Given the description of an element on the screen output the (x, y) to click on. 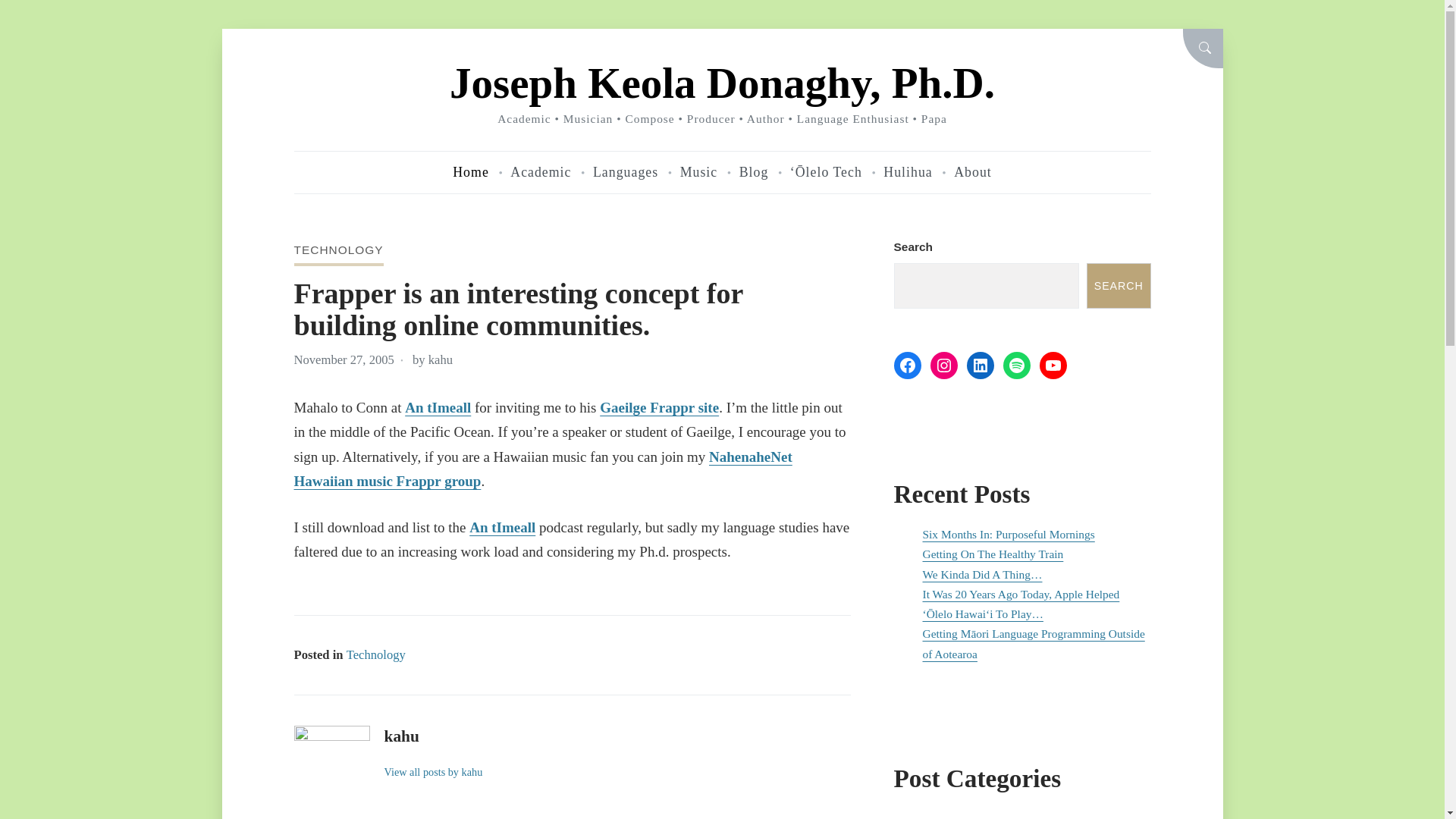
kahu (440, 359)
SEARCH (1202, 47)
Gaeilge Frappr site (659, 407)
Academic (540, 171)
NahenaheNet Hawaiian music Frappr group (543, 468)
Joseph Keola Donaghy, Ph.D. (721, 82)
Music (698, 171)
Hulihua (907, 171)
Languages (625, 171)
Home (470, 171)
About (972, 171)
TECHNOLOGY (339, 249)
An tImeall (437, 407)
An tImeall (501, 527)
